Given the description of an element on the screen output the (x, y) to click on. 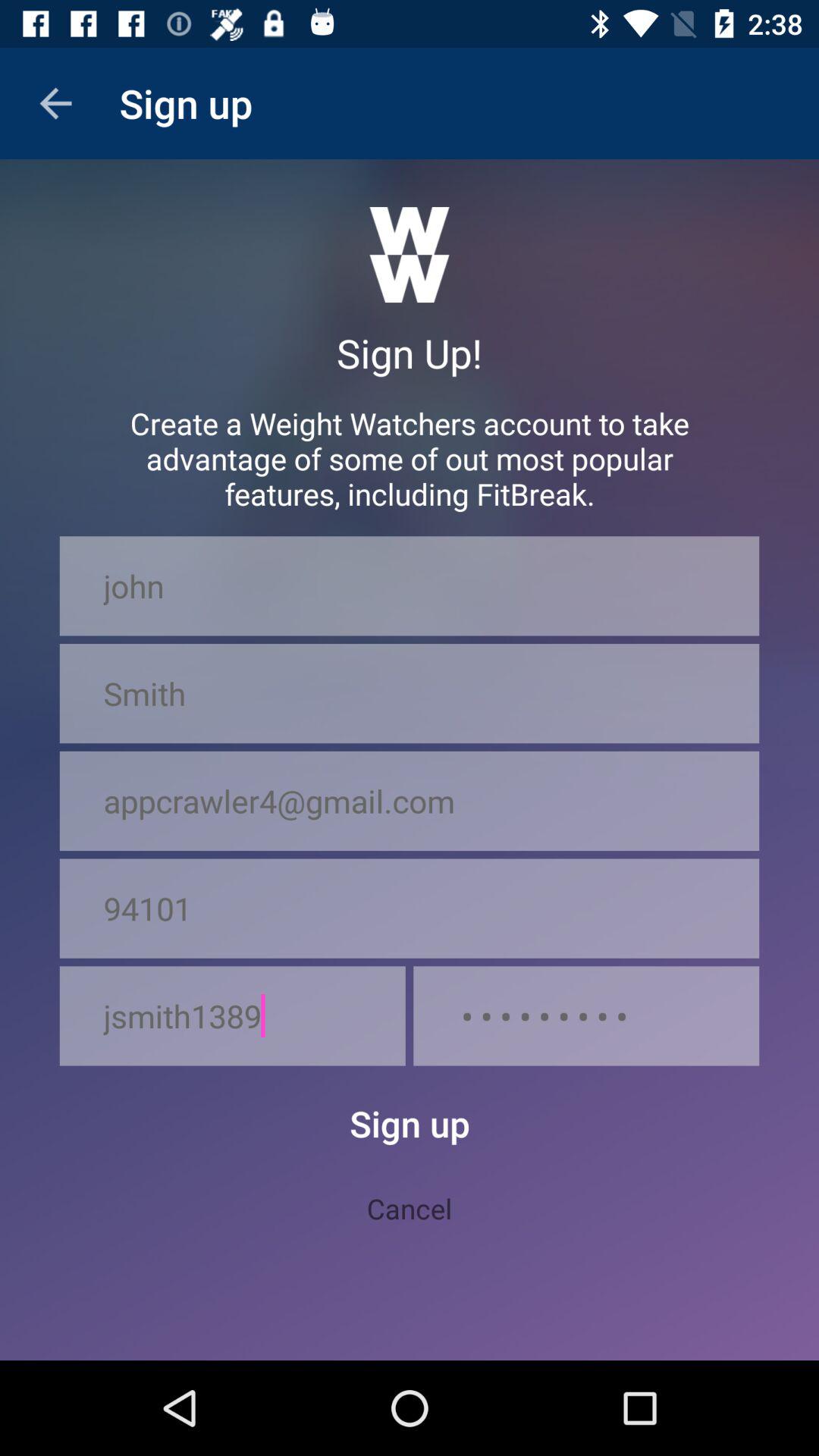
select the jsmith1389 icon (232, 1015)
